Given the description of an element on the screen output the (x, y) to click on. 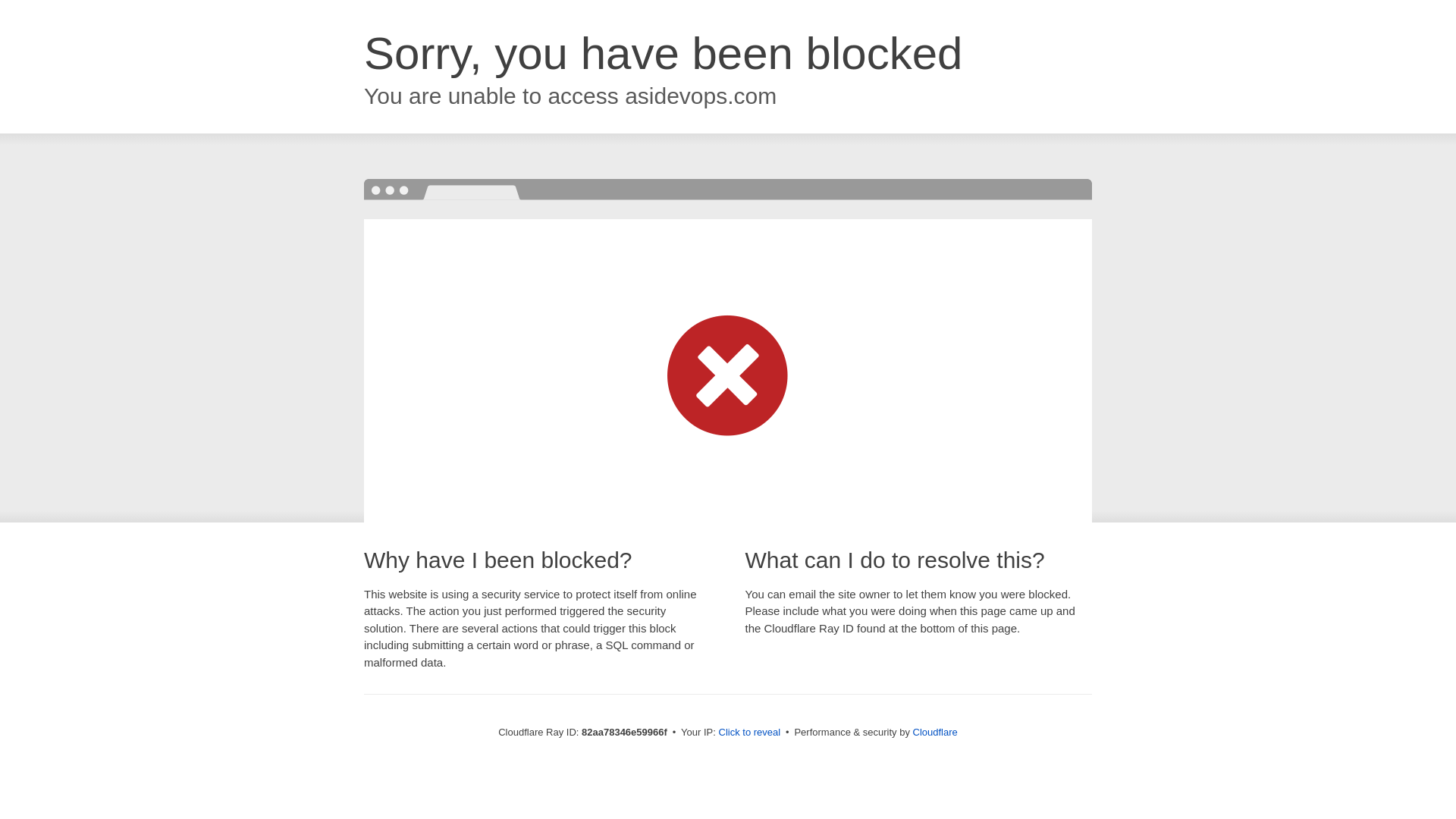
Click to reveal Element type: text (749, 732)
Cloudflare Element type: text (935, 731)
